Given the description of an element on the screen output the (x, y) to click on. 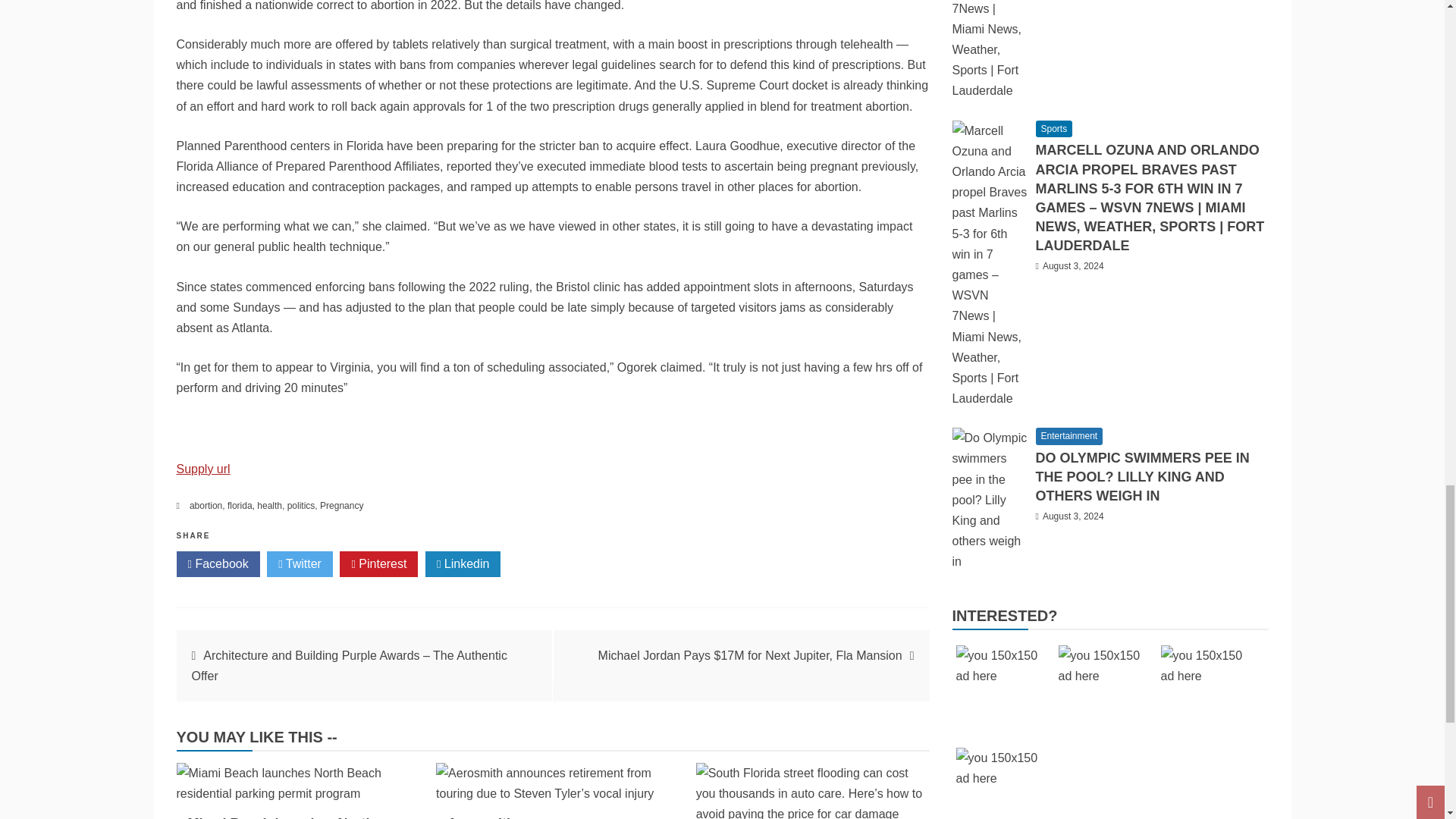
Pinterest (378, 564)
Linkedin (462, 564)
abortion (205, 505)
politics (300, 505)
Twitter (299, 564)
Facebook (217, 564)
Pregnancy (341, 505)
Supply url (203, 468)
florida (239, 505)
health (269, 505)
